Given the description of an element on the screen output the (x, y) to click on. 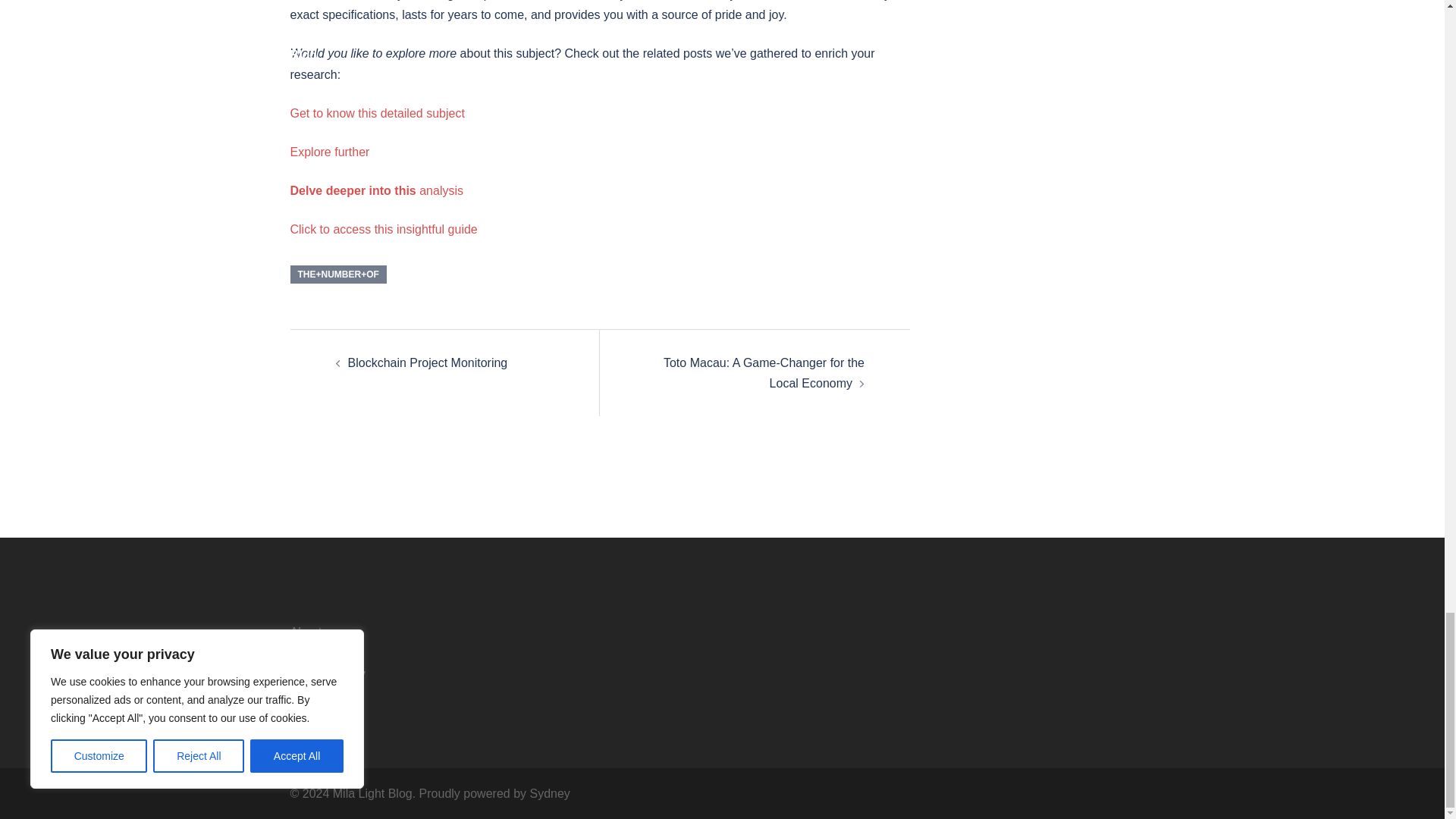
Get to know this detailed subject (376, 113)
Delve deeper into this analysis (376, 190)
Toto Macau: A Game-Changer for the Local Economy (763, 372)
Blockchain Project Monitoring (426, 362)
Explore further (329, 151)
Click to access this insightful guide (383, 228)
